Given the description of an element on the screen output the (x, y) to click on. 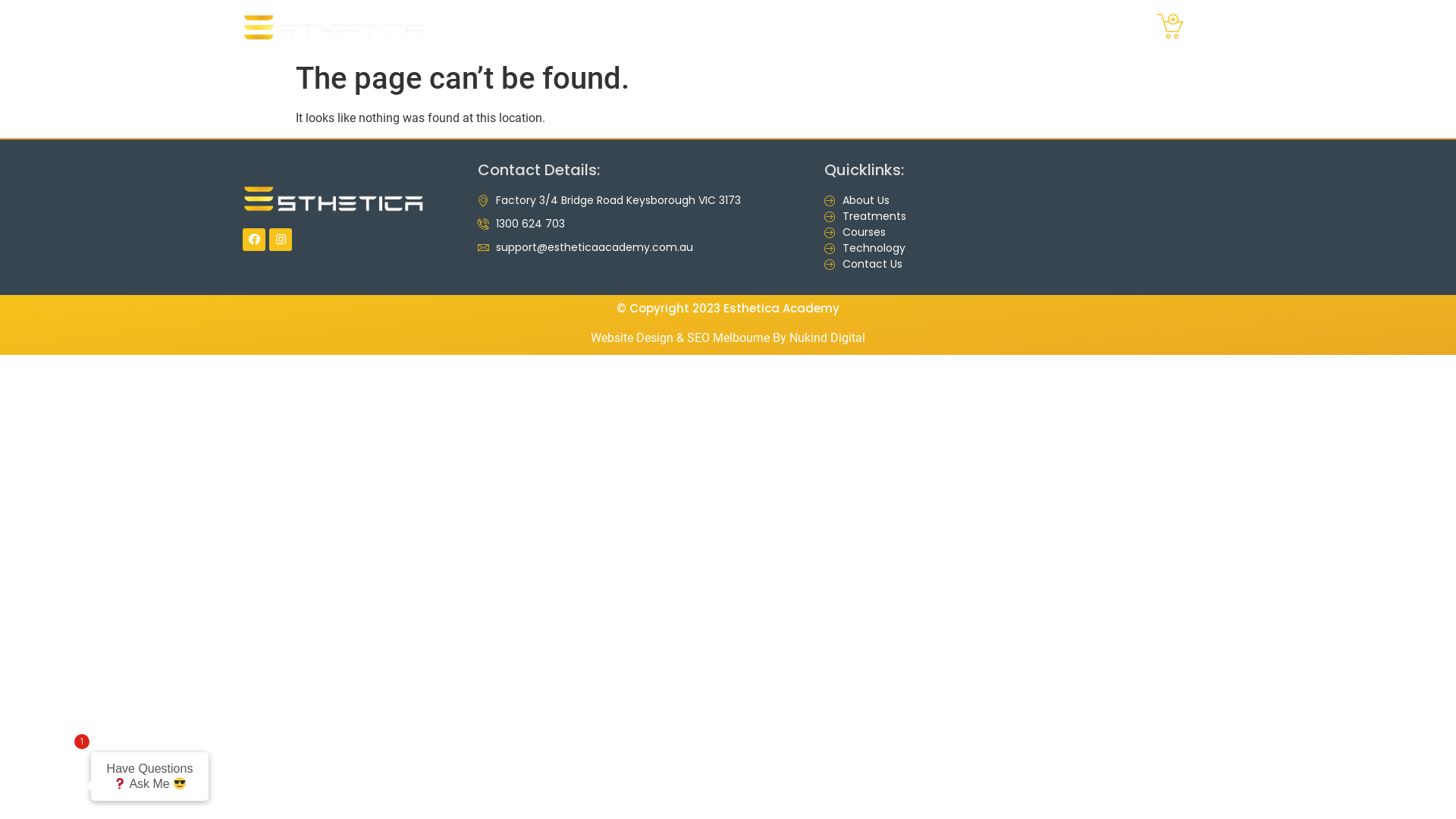
AESTHETICS Element type: text (722, 27)
Contact Us Element type: text (918, 264)
CONTACT US Element type: text (1061, 27)
EDUCATION Element type: text (835, 27)
Website Design & SEO Melbourne Element type: text (679, 337)
Treatments Element type: text (918, 216)
1300 624 703 Element type: text (643, 224)
support@estheticaacademy.com.au Element type: text (643, 247)
About Us Element type: text (918, 200)
CONSUMABLES Element type: text (950, 27)
Have Questions Ask Me
1 Element type: text (127, 771)
HOME Element type: text (635, 27)
Courses Element type: text (918, 232)
Technology Element type: text (918, 248)
